Given the description of an element on the screen output the (x, y) to click on. 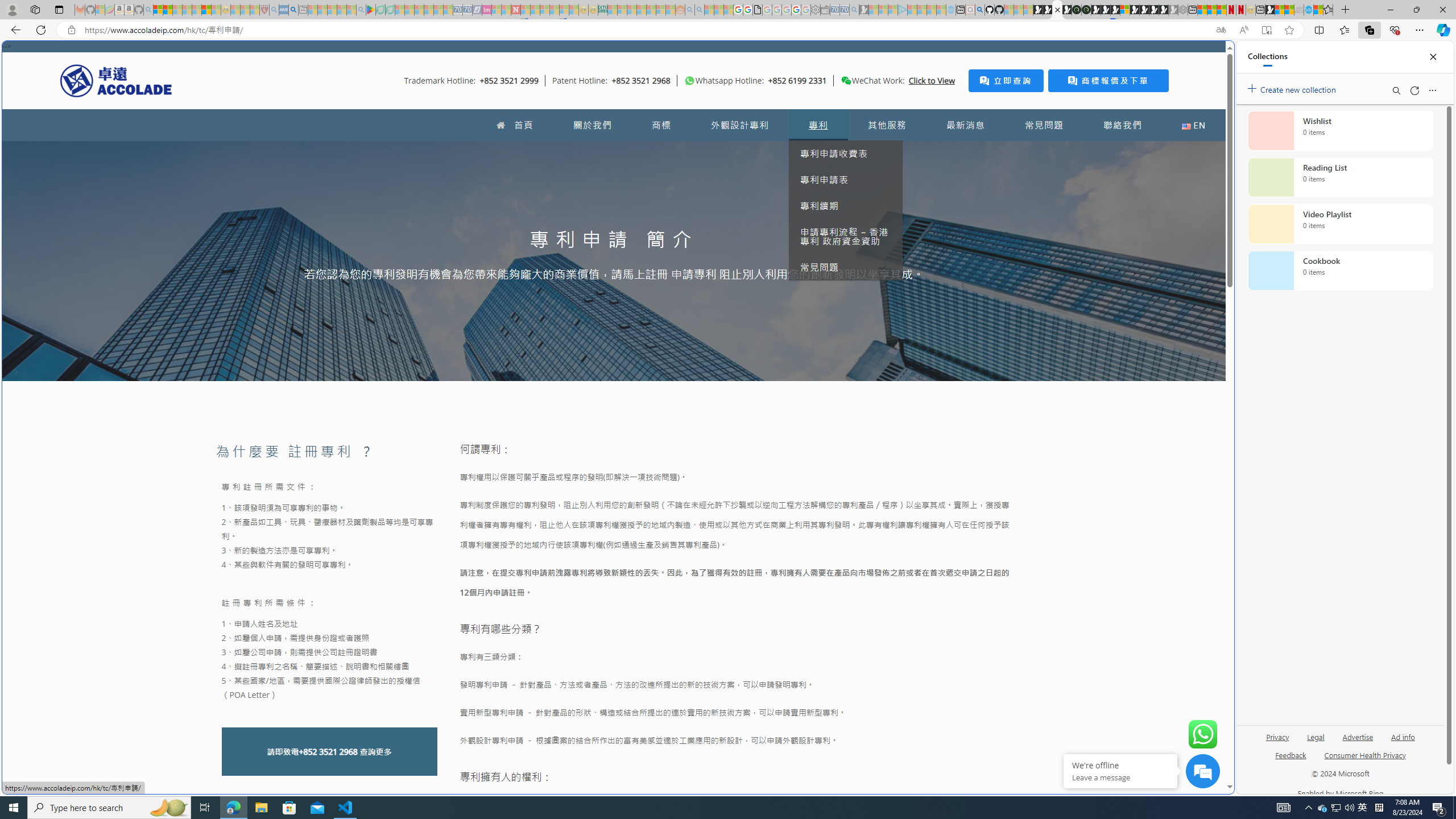
Frequently visited (965, 151)
